Given the description of an element on the screen output the (x, y) to click on. 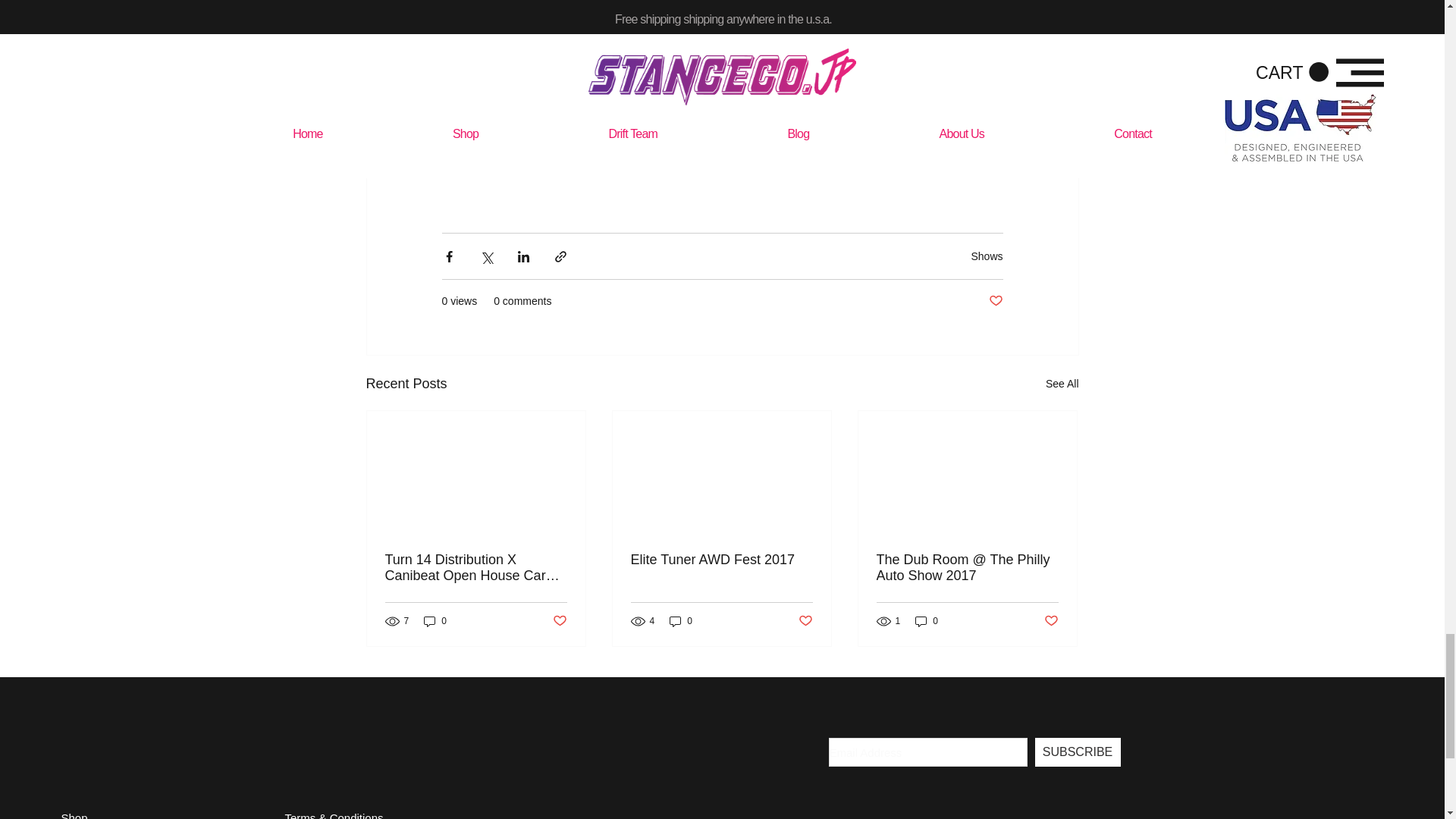
Post not marked as liked (995, 301)
See All (1061, 383)
Turn 14 Distribution X Canibeat Open House Car Meet (476, 567)
Post not marked as liked (558, 621)
0 (435, 621)
Shows (987, 256)
